Given the description of an element on the screen output the (x, y) to click on. 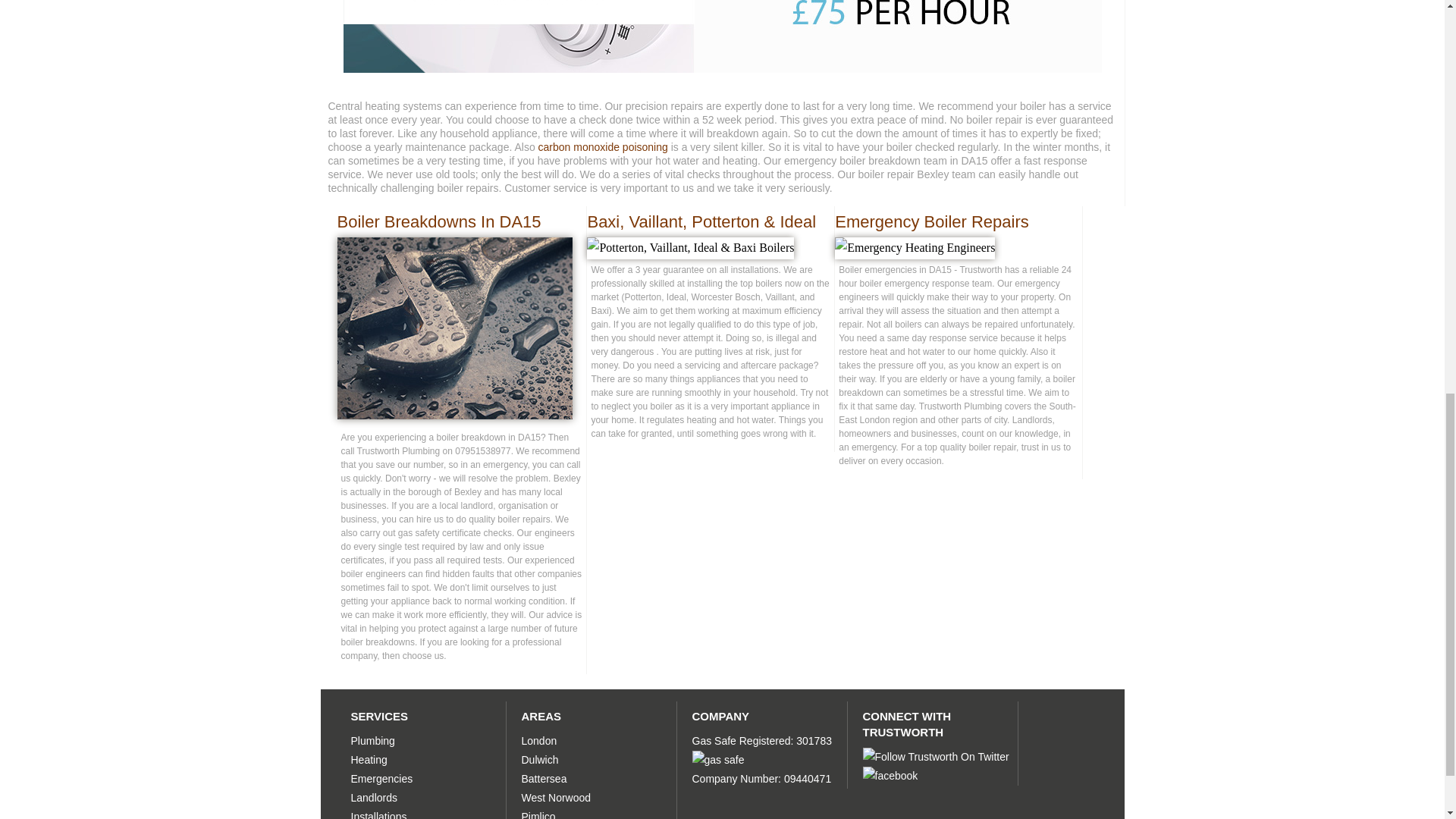
Plumbing (372, 740)
West Norwood (556, 797)
Battersea (544, 778)
Emergencies (381, 778)
London (539, 740)
Heating (368, 759)
Installations (378, 814)
Dulwich (540, 759)
Pimlico (538, 814)
facebook (890, 775)
